Given the description of an element on the screen output the (x, y) to click on. 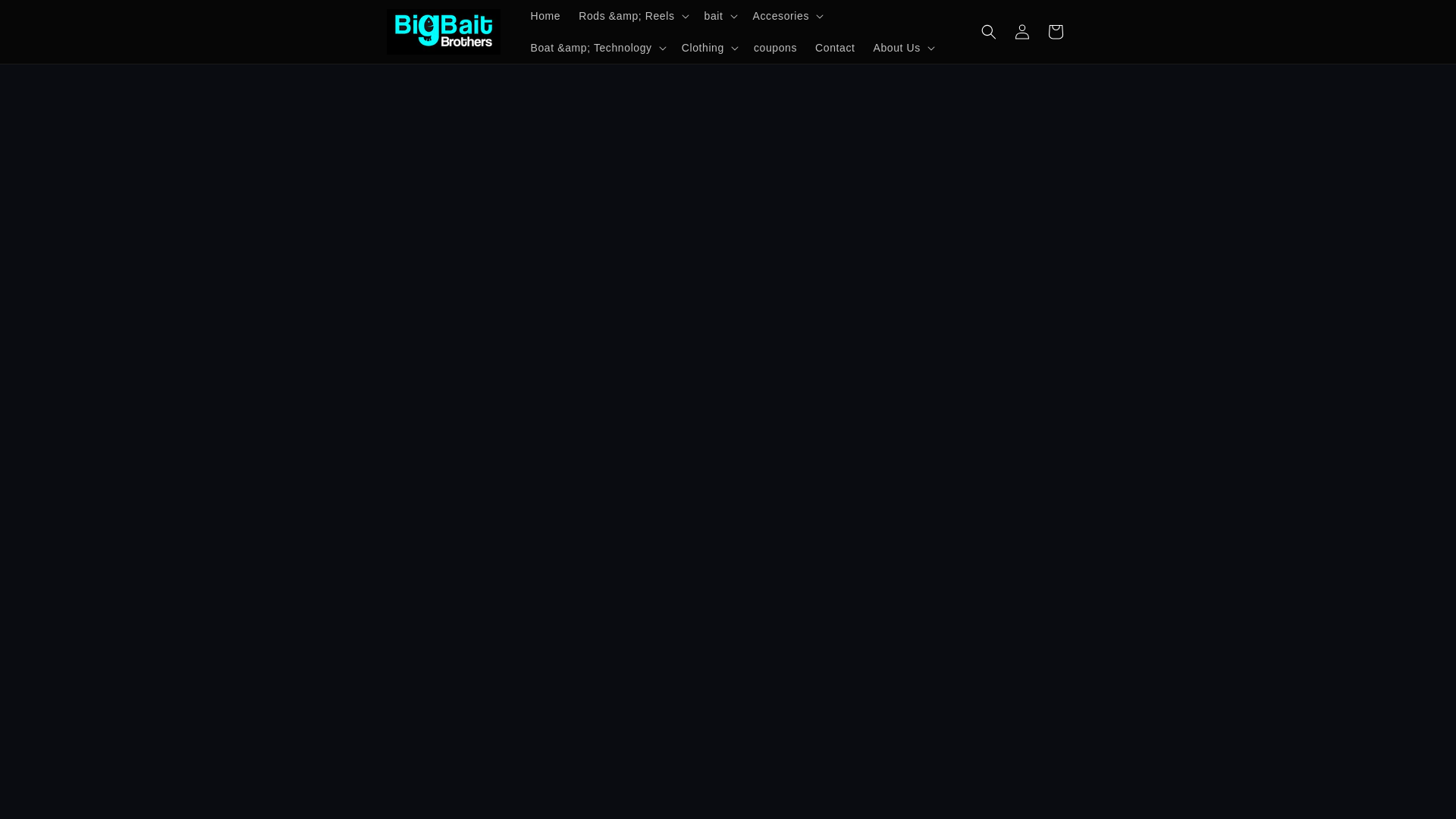
Skip to content (45, 17)
